Given the description of an element on the screen output the (x, y) to click on. 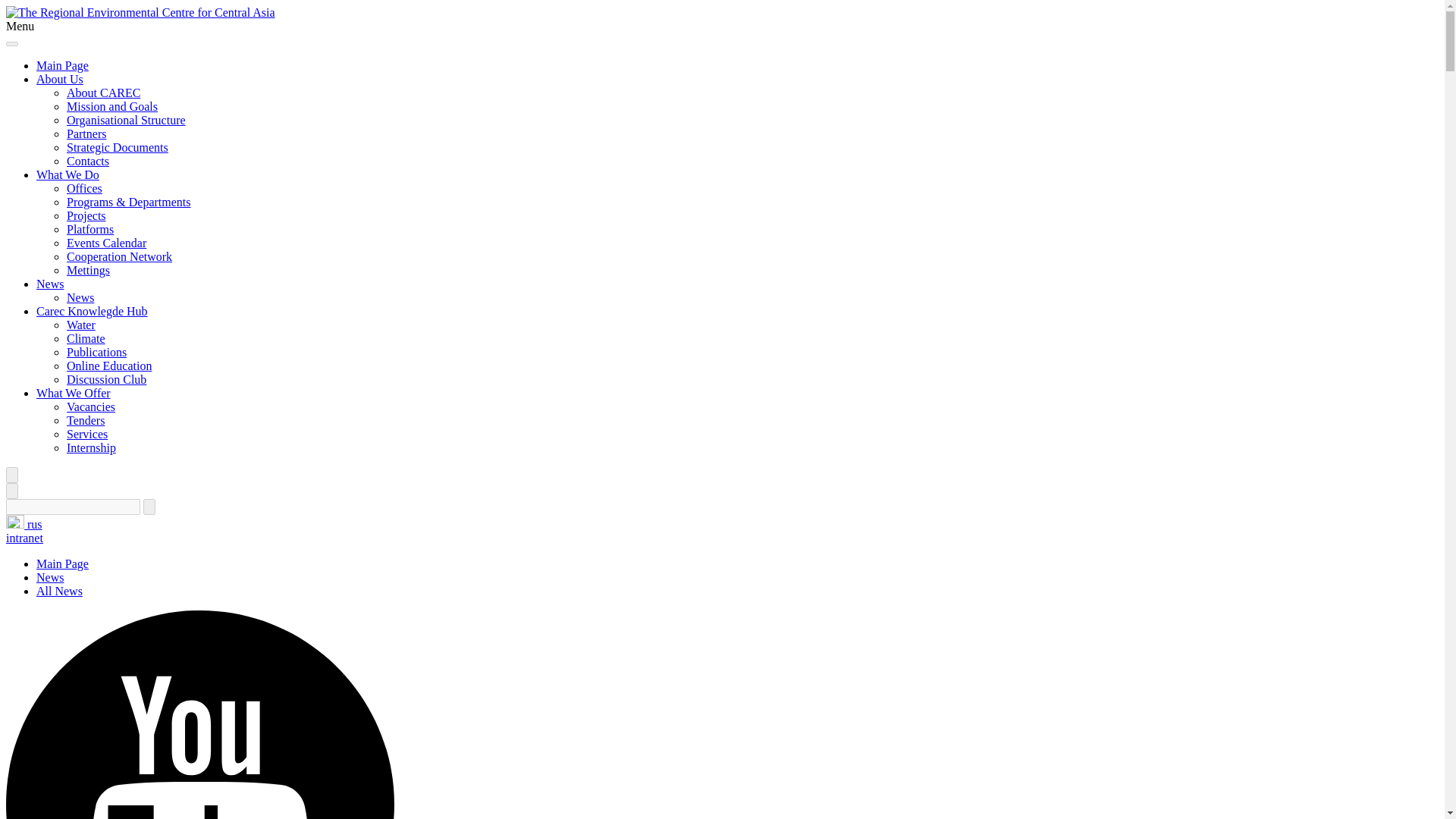
Internship (91, 447)
What We Offer (73, 392)
Events Calendar (106, 242)
News (50, 576)
About Us (59, 78)
About CAREC (102, 92)
Climate (85, 338)
Organisational Structure (126, 119)
What We Do (67, 174)
Discussion Club (106, 379)
